Given the description of an element on the screen output the (x, y) to click on. 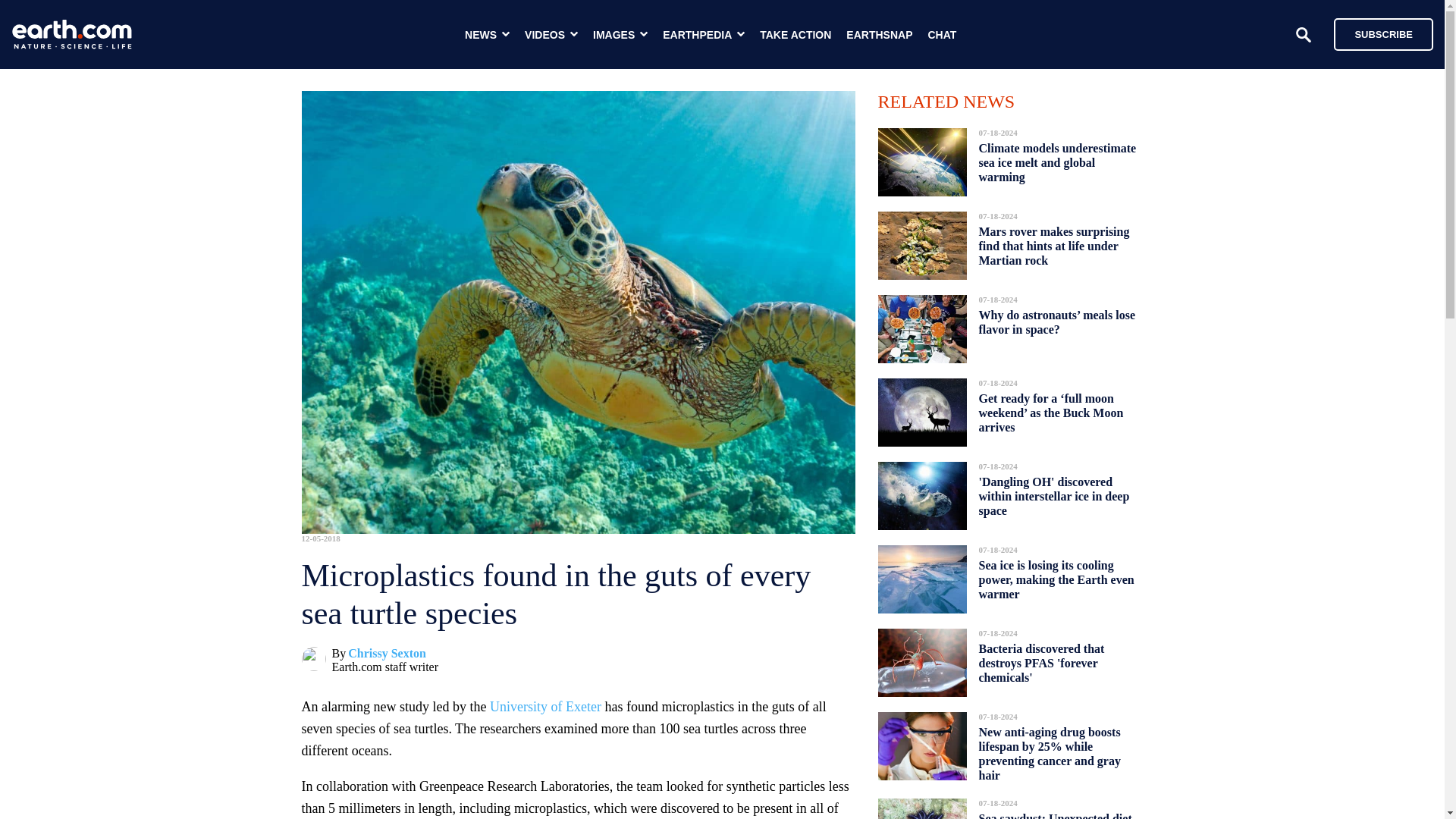
University of Exeter (545, 706)
Chrissy Sexton (386, 653)
TAKE ACTION (795, 34)
CHAT (941, 34)
EARTHSNAP (878, 34)
Sea sawdust: Unexpected diet of crown-of-thorns starfish (1054, 811)
SUBSCRIBE (1382, 34)
Climate models underestimate sea ice melt and global warming (1056, 162)
Bacteria discovered that destroys PFAS 'forever chemicals' (1040, 662)
SUBSCRIBE (1375, 33)
